Given the description of an element on the screen output the (x, y) to click on. 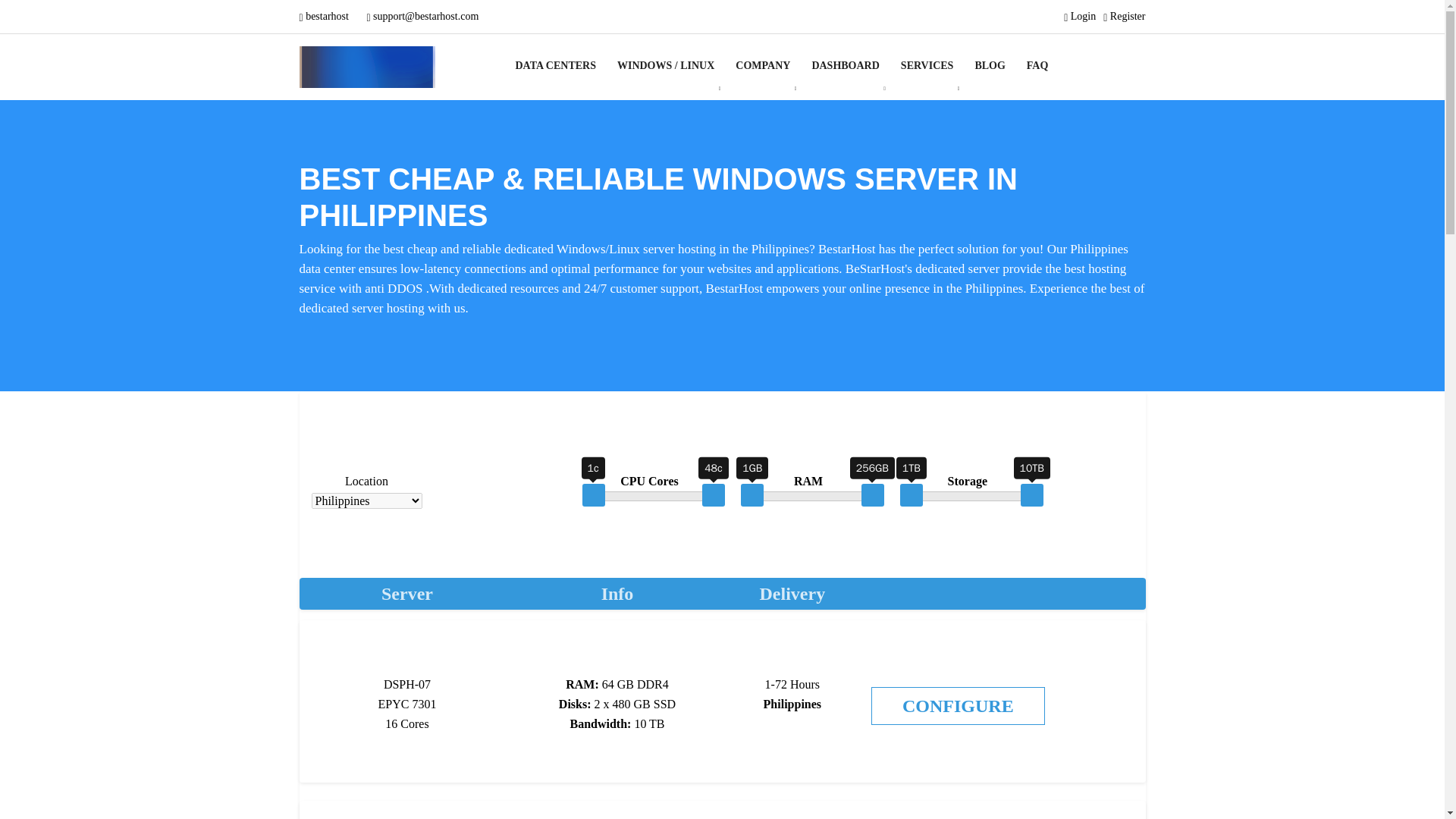
DATA CENTERS (561, 65)
FAQ (1037, 65)
Register (1123, 16)
COMPANY (762, 65)
bestarhost (324, 16)
BLOG (988, 65)
CONFIGURE (957, 705)
Login (1080, 16)
DASHBOARD (844, 65)
SERVICES (926, 65)
